Given the description of an element on the screen output the (x, y) to click on. 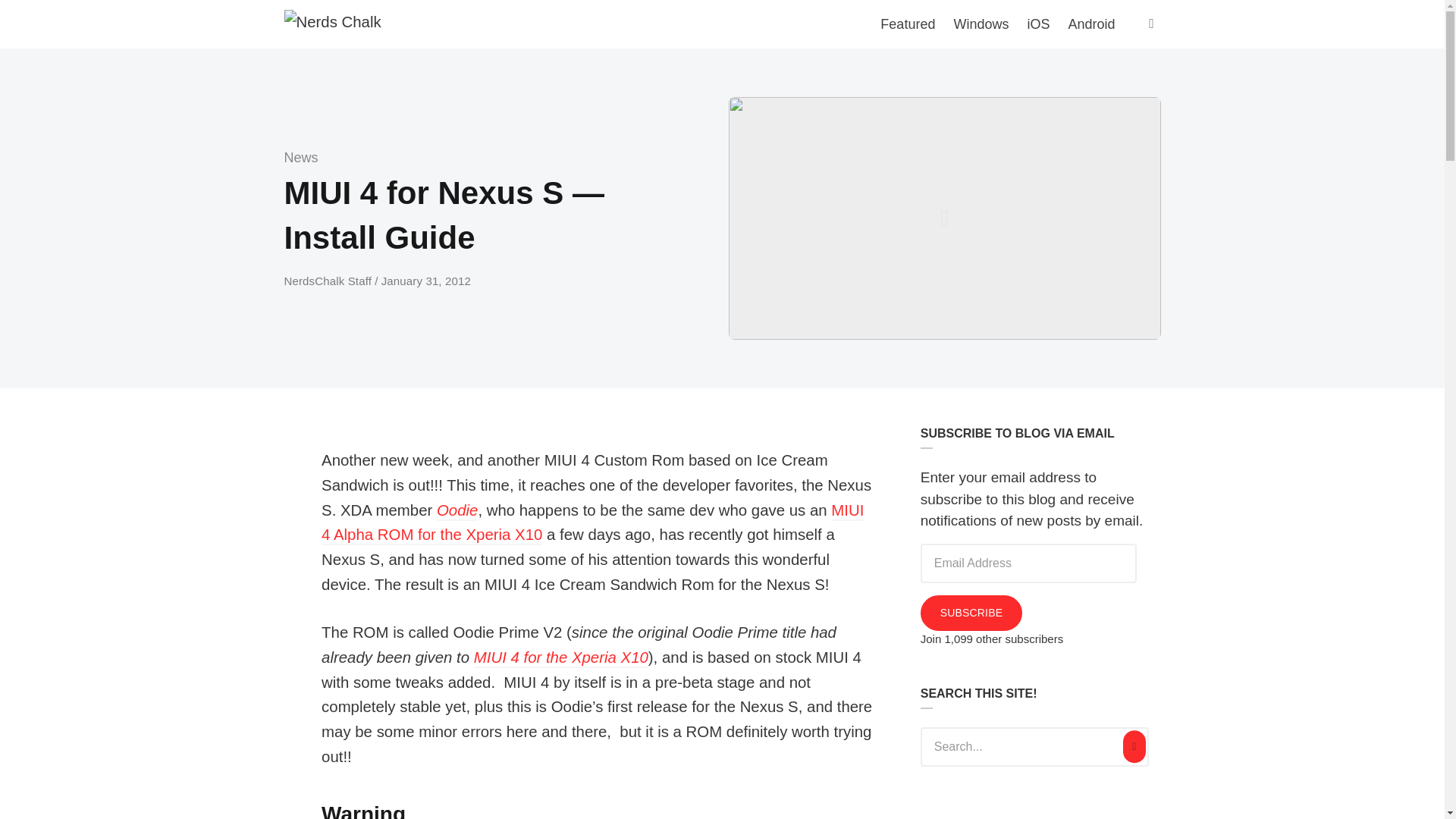
SUBSCRIBE (971, 613)
Oodie (456, 511)
iOS (1037, 24)
Xperia X10 gets an MIUI v4 Rom too. Yes, even the X10, man! (592, 524)
NerdsChalk Staff (328, 280)
Windows (980, 24)
Android (1091, 24)
Featured (906, 24)
MIUI 4 for the Xperia X10 (560, 658)
News (300, 157)
MIUI 4 Alpha ROM for the Xperia X10 (592, 524)
